Given the description of an element on the screen output the (x, y) to click on. 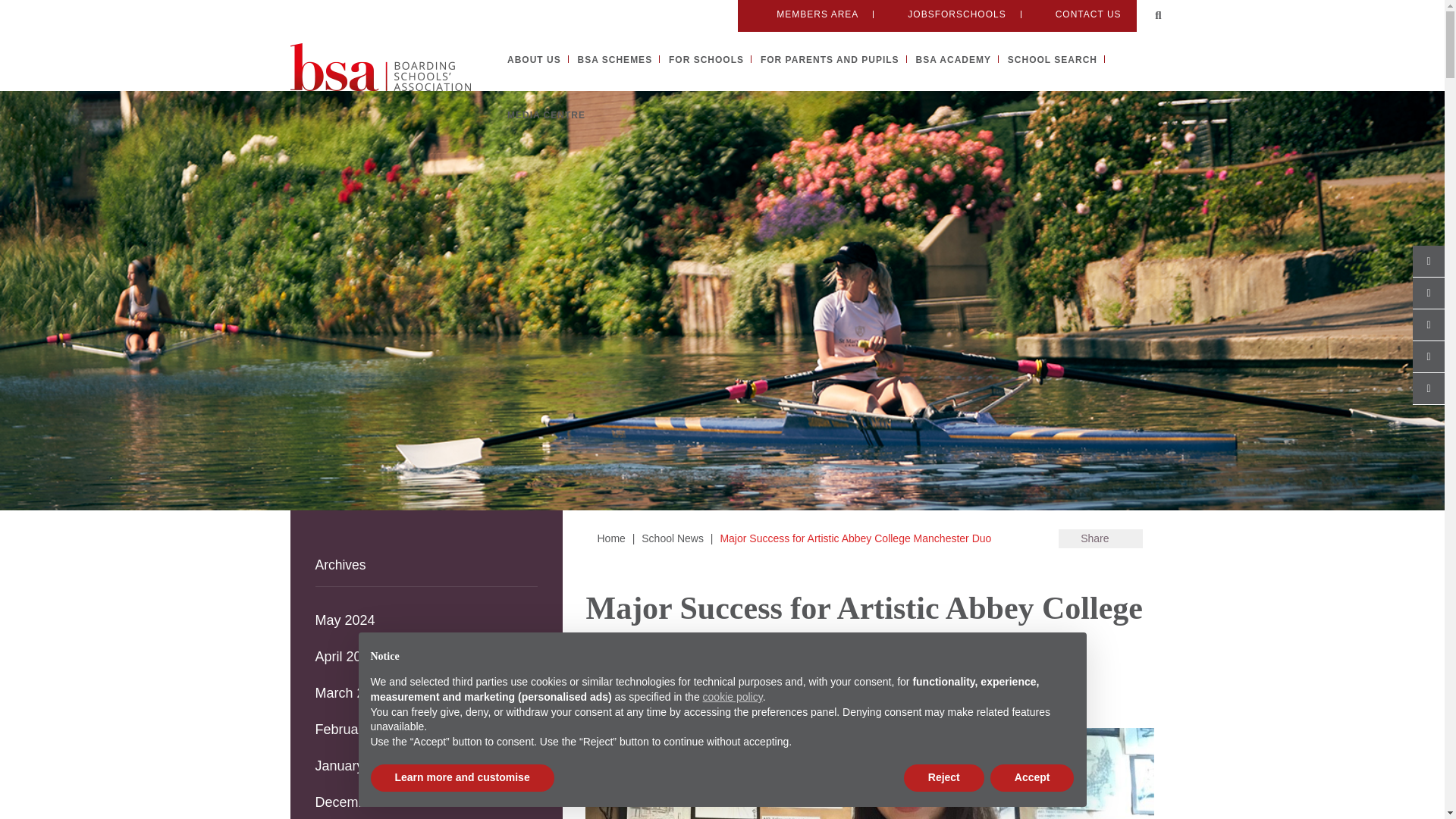
Search (1158, 14)
BSA SCHEMES (615, 59)
Go to The Boarding Schools' Association. (610, 538)
JOBSFORSCHOOLS (947, 14)
CONTACT US (1078, 14)
Go to School News. (672, 538)
FOR PARENTS AND PUPILS (829, 59)
FOR SCHOOLS (706, 59)
Search (1158, 14)
ABOUT US (533, 59)
